Given the description of an element on the screen output the (x, y) to click on. 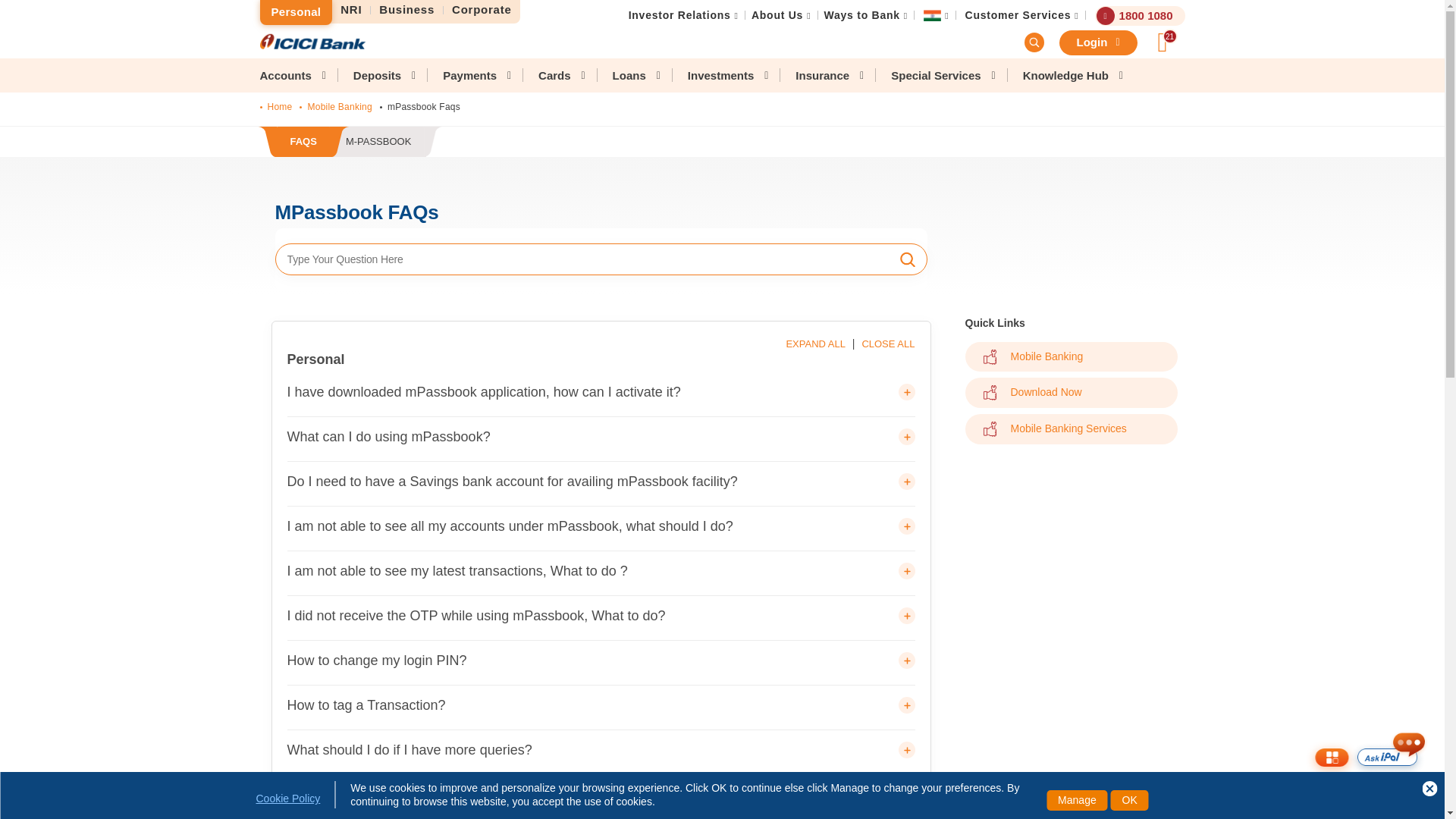
About Us (777, 15)
Personal (295, 12)
Business (350, 142)
Customer Services (407, 9)
NRI (1018, 15)
Corporate (351, 9)
Ways to Bank (481, 9)
Investor Relations (861, 15)
